Given the description of an element on the screen output the (x, y) to click on. 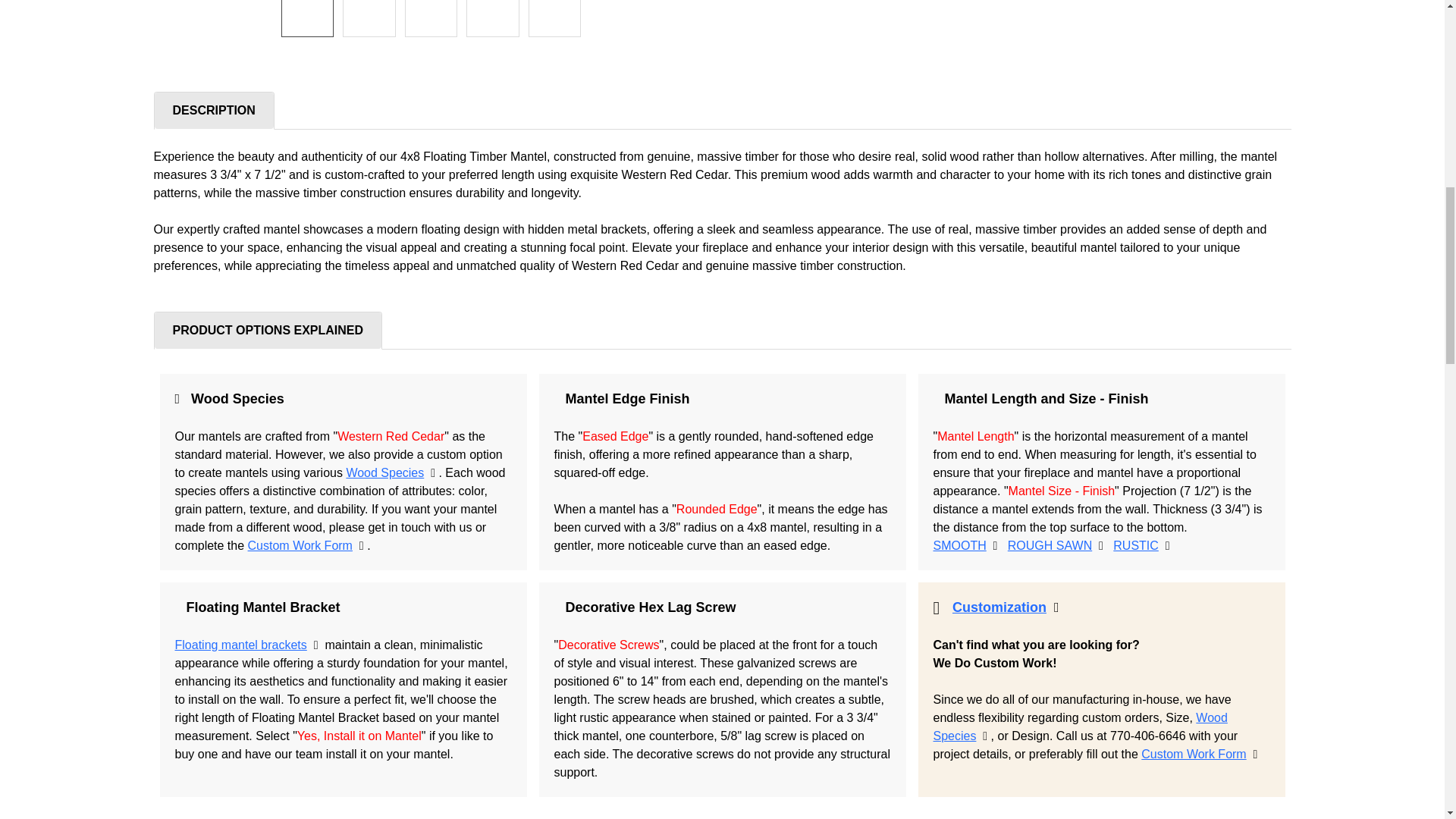
Floating Mantel 4x8 (554, 18)
Floating Mantel 4x8 (492, 18)
Floating Mantel 4x8 (368, 18)
Floating Mantel 4x8 (431, 18)
